Given the description of an element on the screen output the (x, y) to click on. 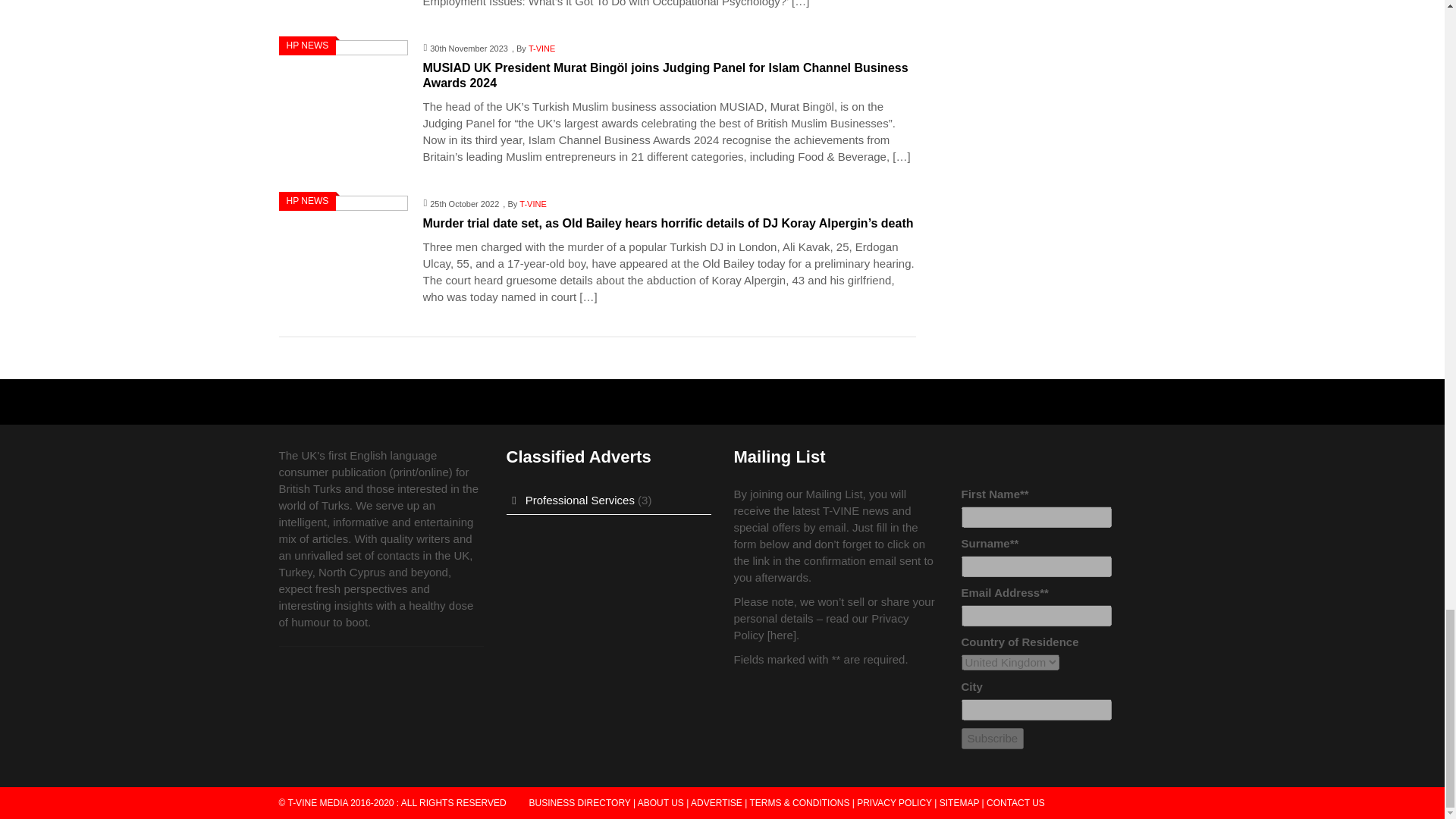
Subscribe (992, 738)
